Given the description of an element on the screen output the (x, y) to click on. 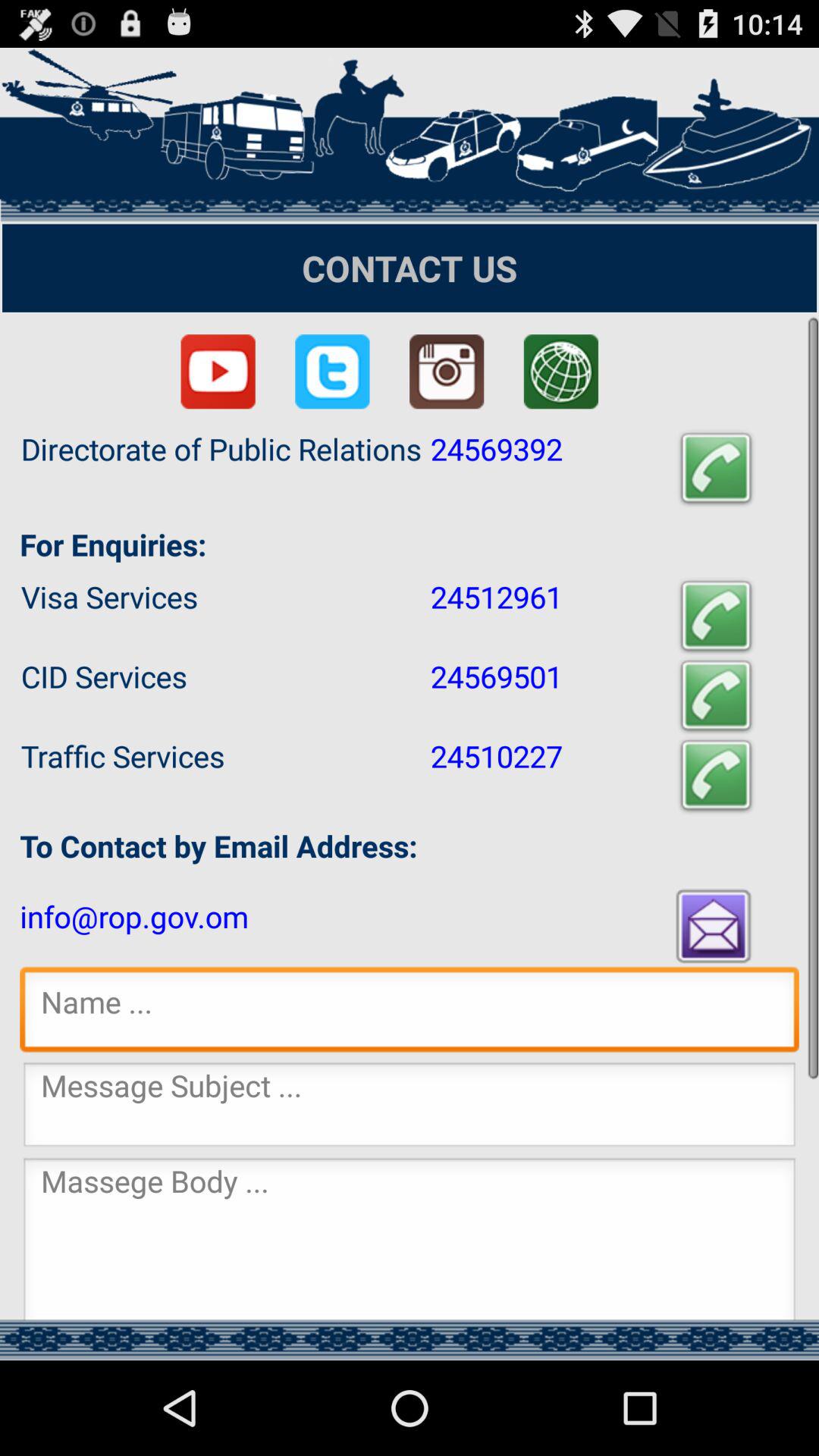
initiate call icon (716, 468)
